Given the description of an element on the screen output the (x, y) to click on. 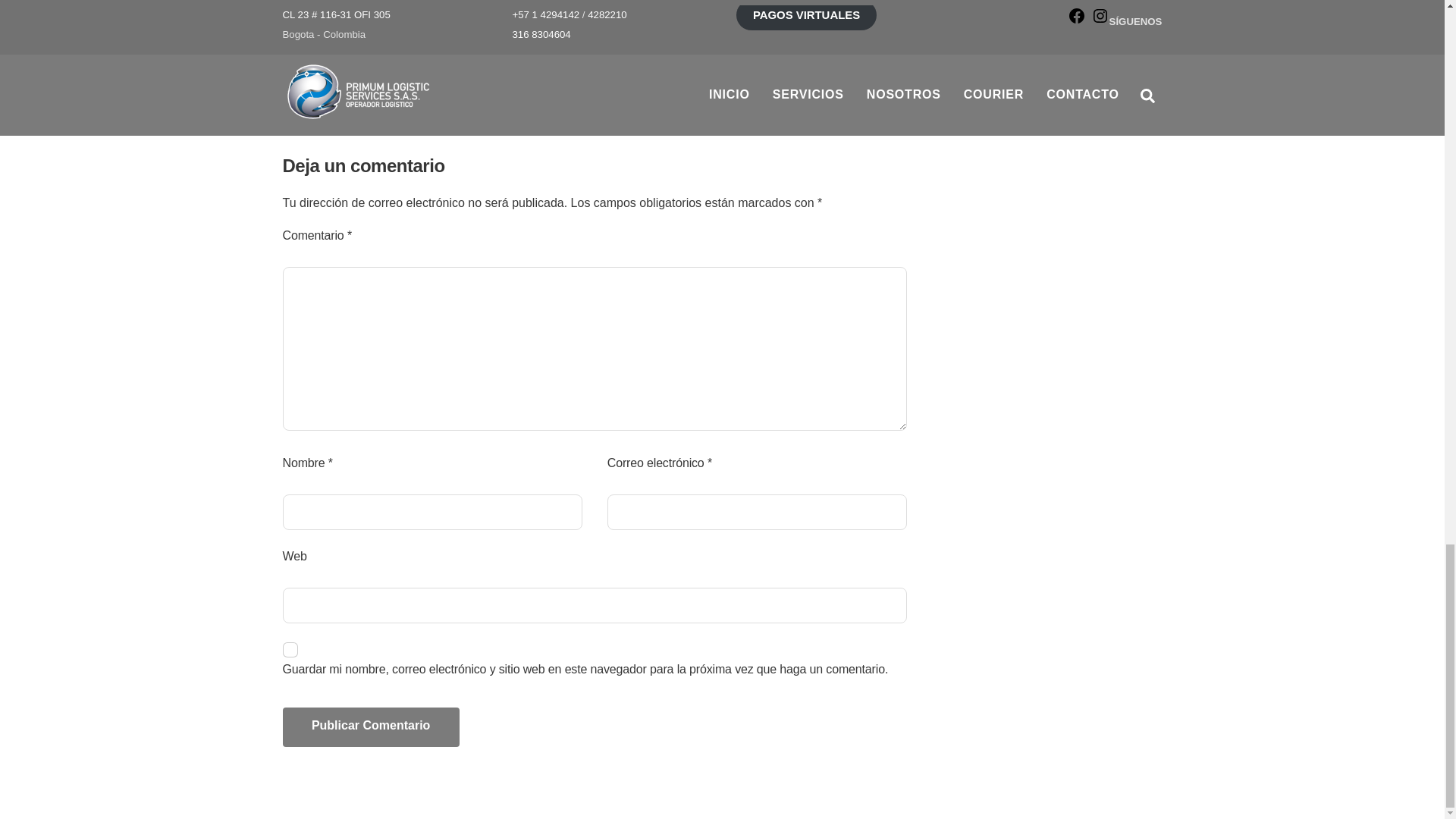
yes (289, 649)
Publicar comentario (370, 726)
INCONTRI-PERVERSI VISITORS (352, 32)
Publicar comentario (370, 726)
